Given the description of an element on the screen output the (x, y) to click on. 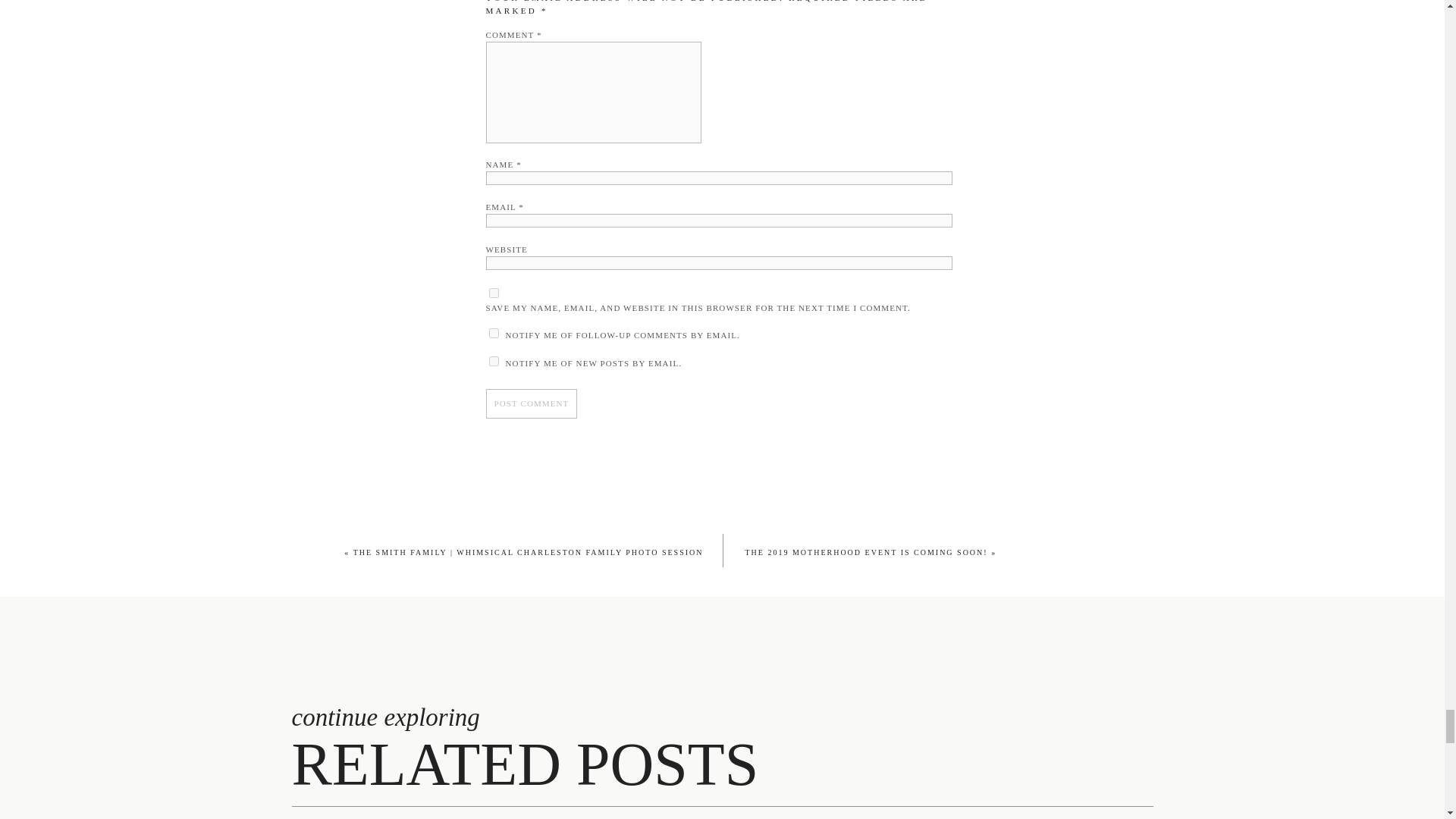
THE 2019 MOTHERHOOD EVENT IS COMING SOON! (865, 551)
Post Comment (530, 403)
subscribe (492, 361)
yes (492, 293)
subscribe (492, 333)
Post Comment (530, 403)
